Given the description of an element on the screen output the (x, y) to click on. 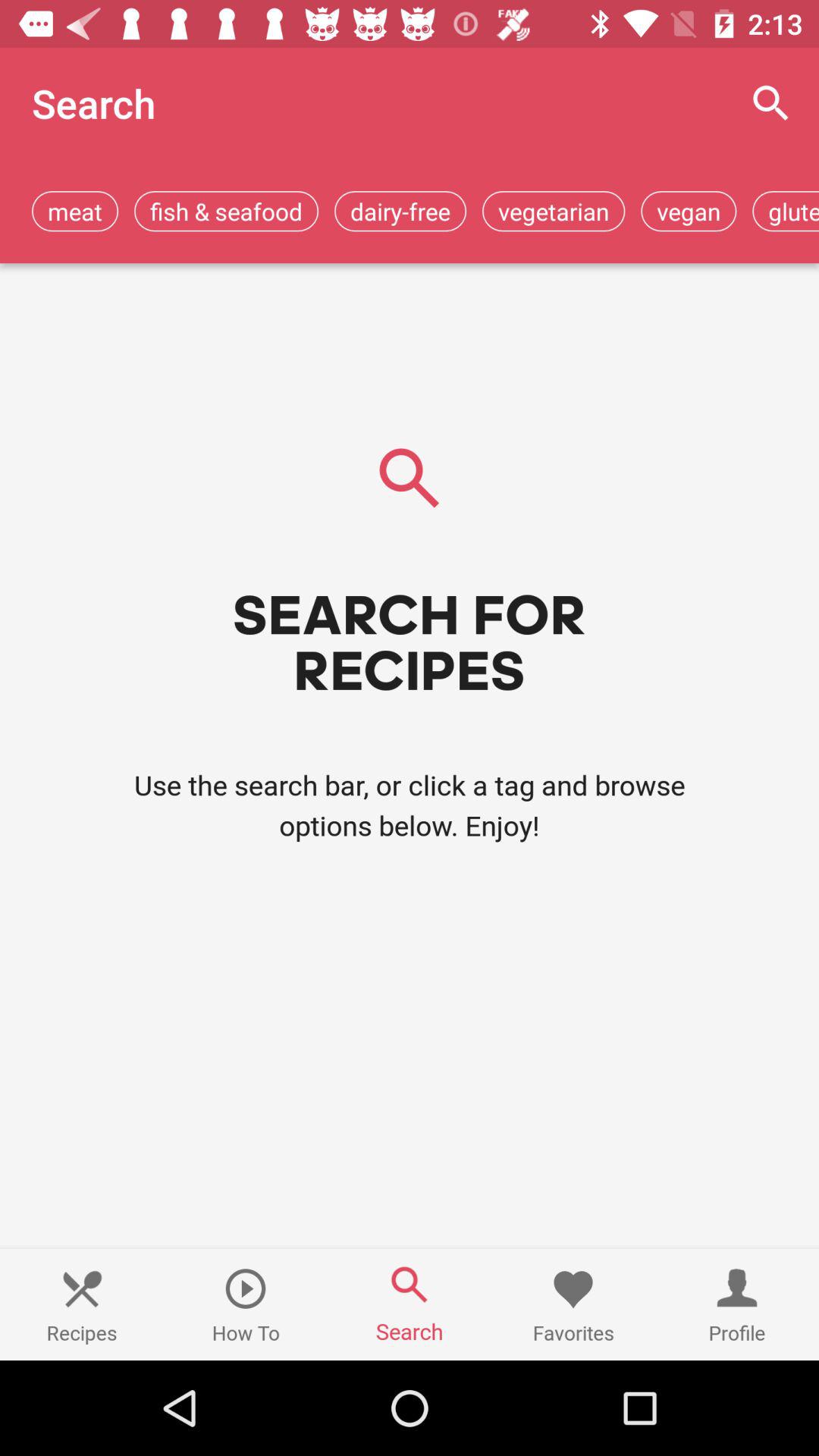
turn off icon next to the meat app (226, 211)
